Given the description of an element on the screen output the (x, y) to click on. 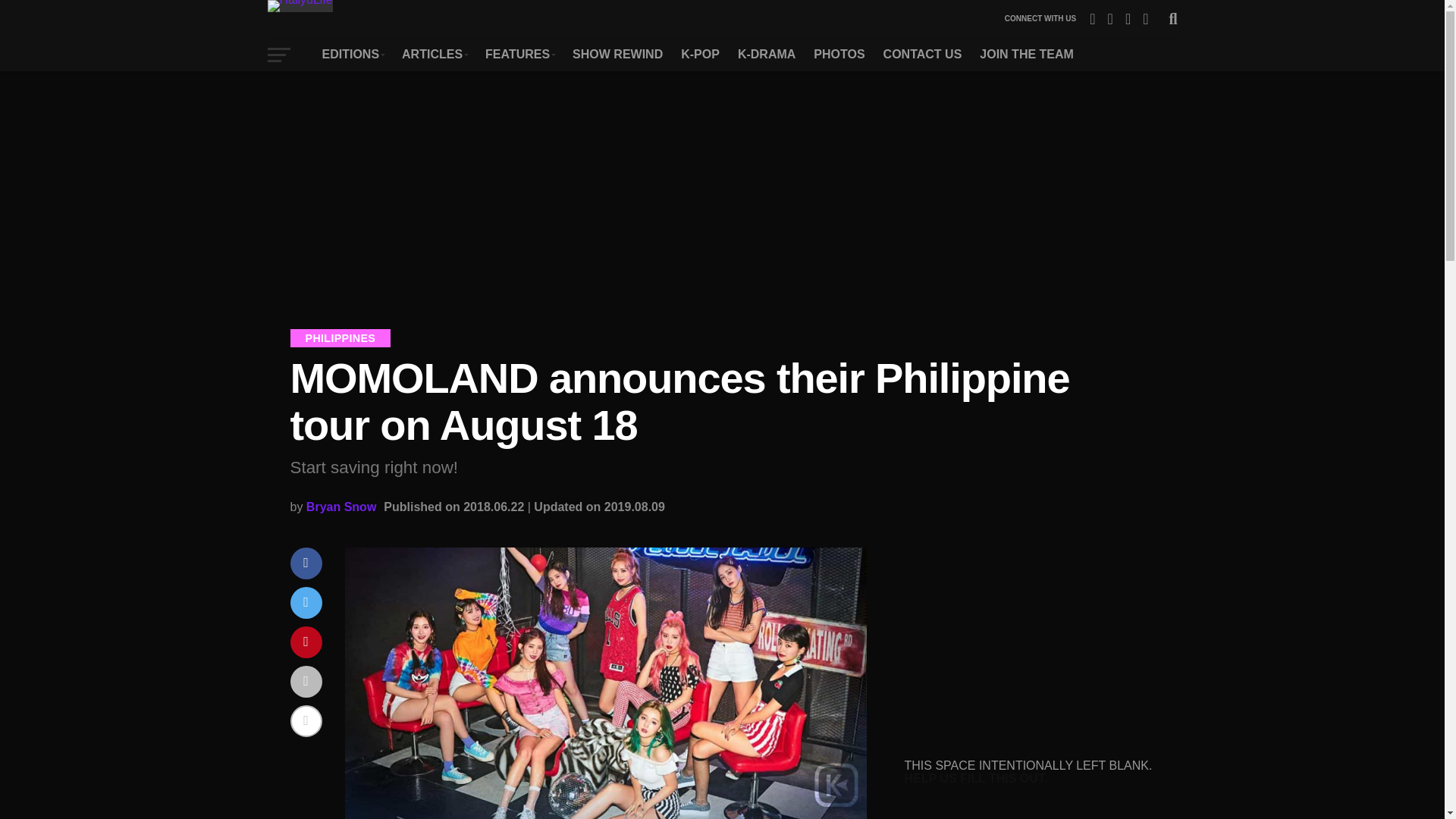
Advertisement (1029, 642)
Posts by Bryan Snow (340, 506)
EDITIONS (353, 54)
